Given the description of an element on the screen output the (x, y) to click on. 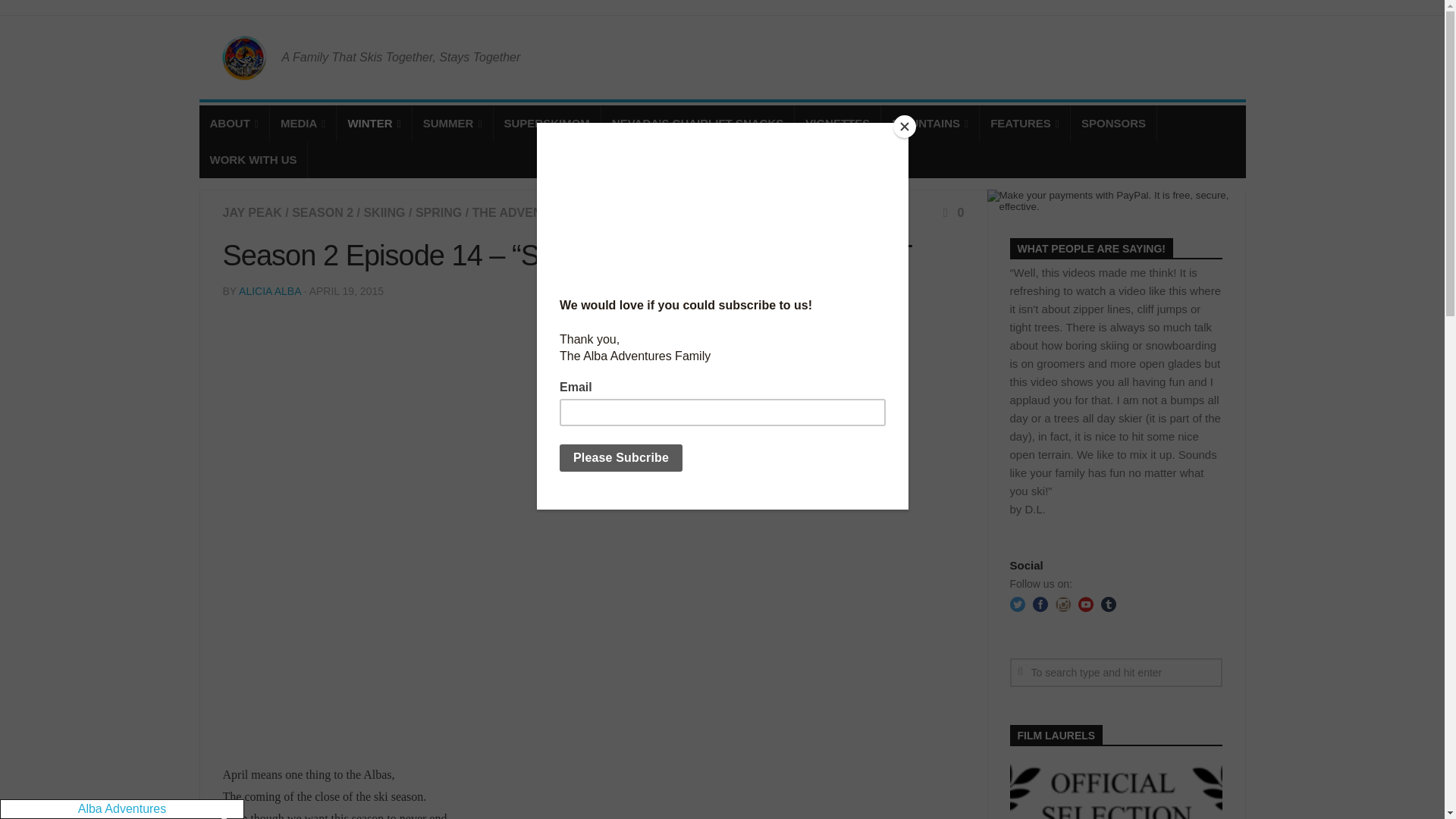
MEDIA (302, 123)
WINTER (373, 123)
ABOUT (232, 123)
To search type and hit enter (1116, 672)
To search type and hit enter (1116, 672)
Posts by Alicia Alba (269, 291)
